Given the description of an element on the screen output the (x, y) to click on. 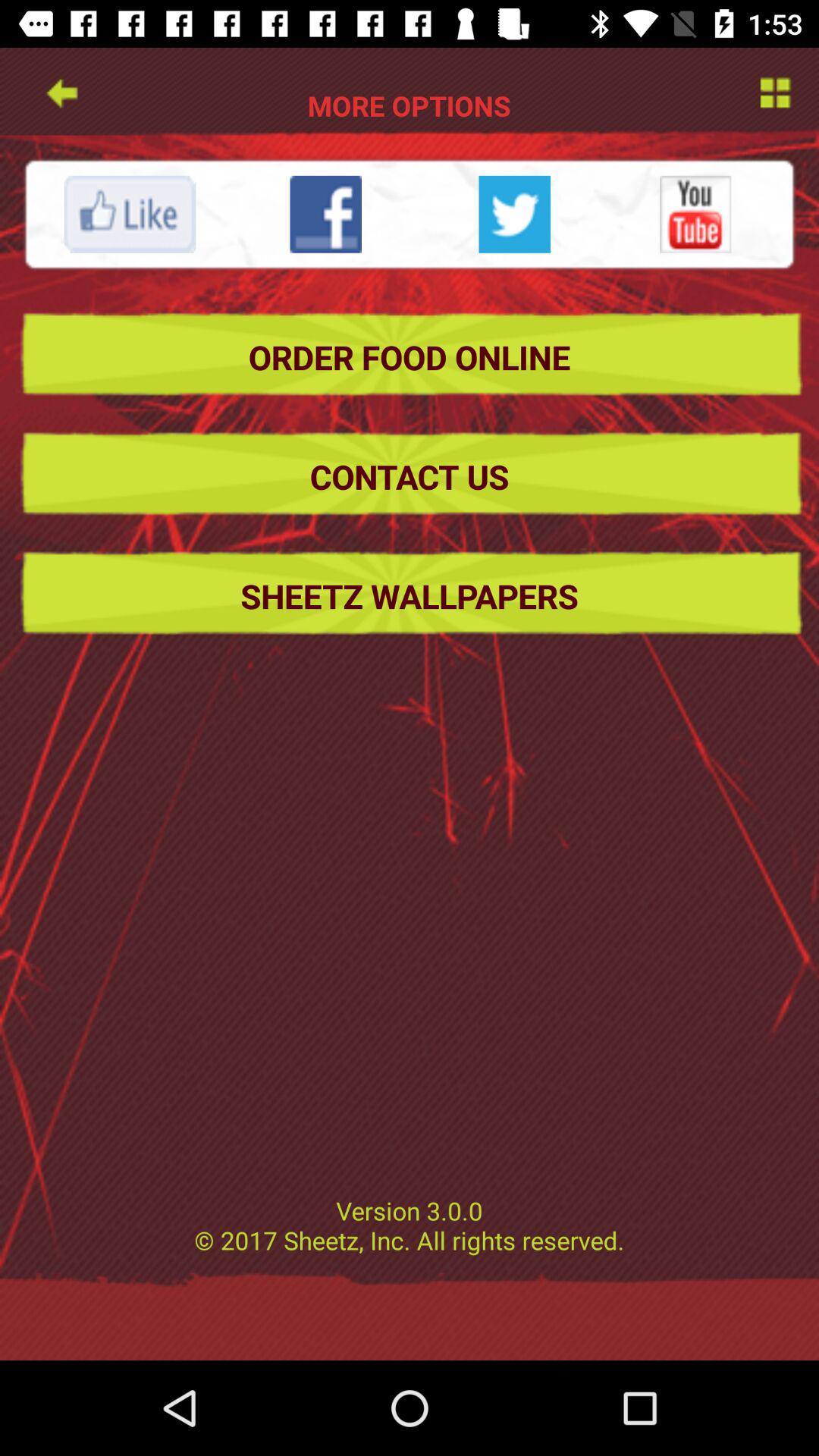
go to you tube (695, 214)
